Given the description of an element on the screen output the (x, y) to click on. 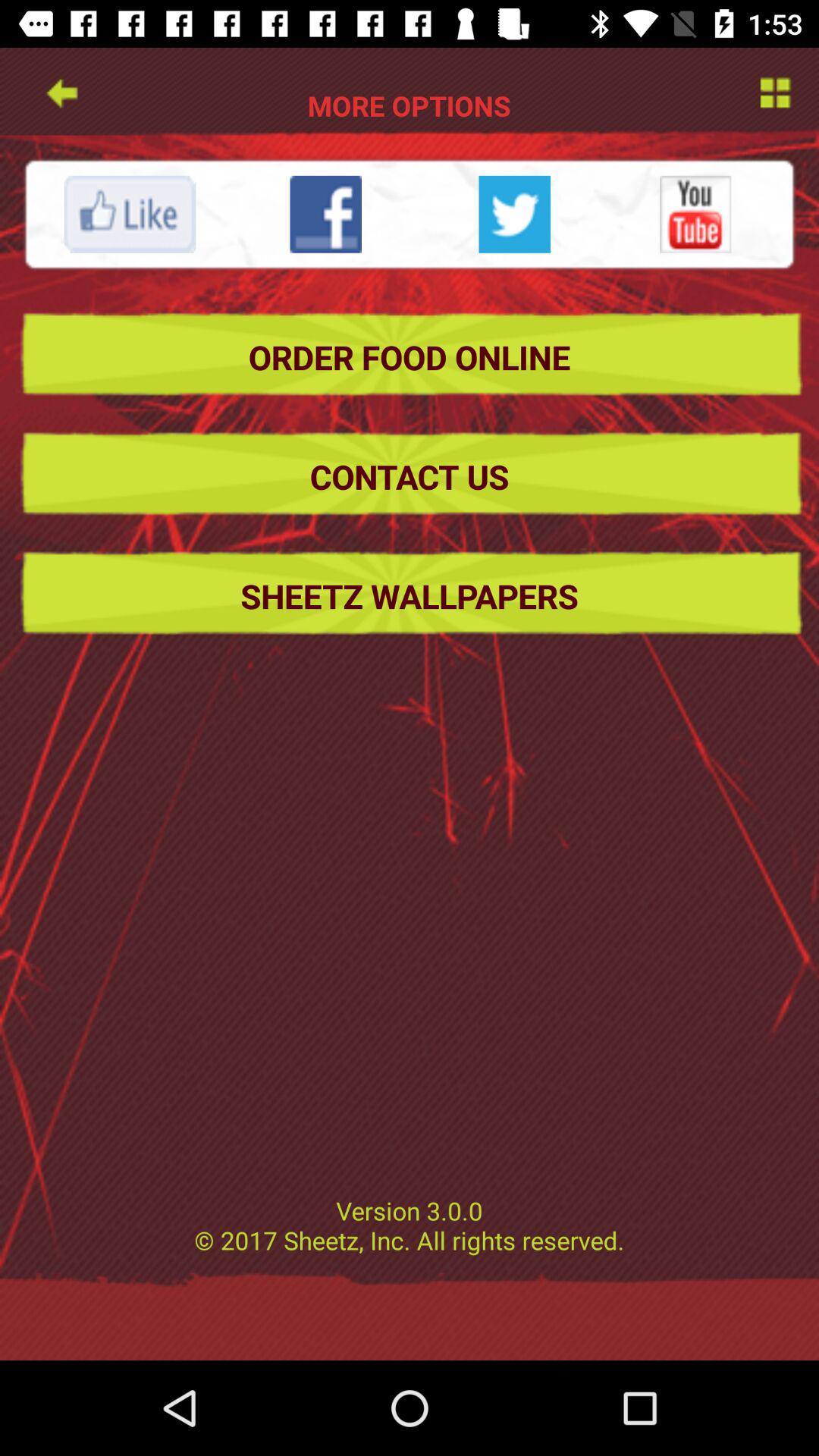
go to you tube (695, 214)
